Given the description of an element on the screen output the (x, y) to click on. 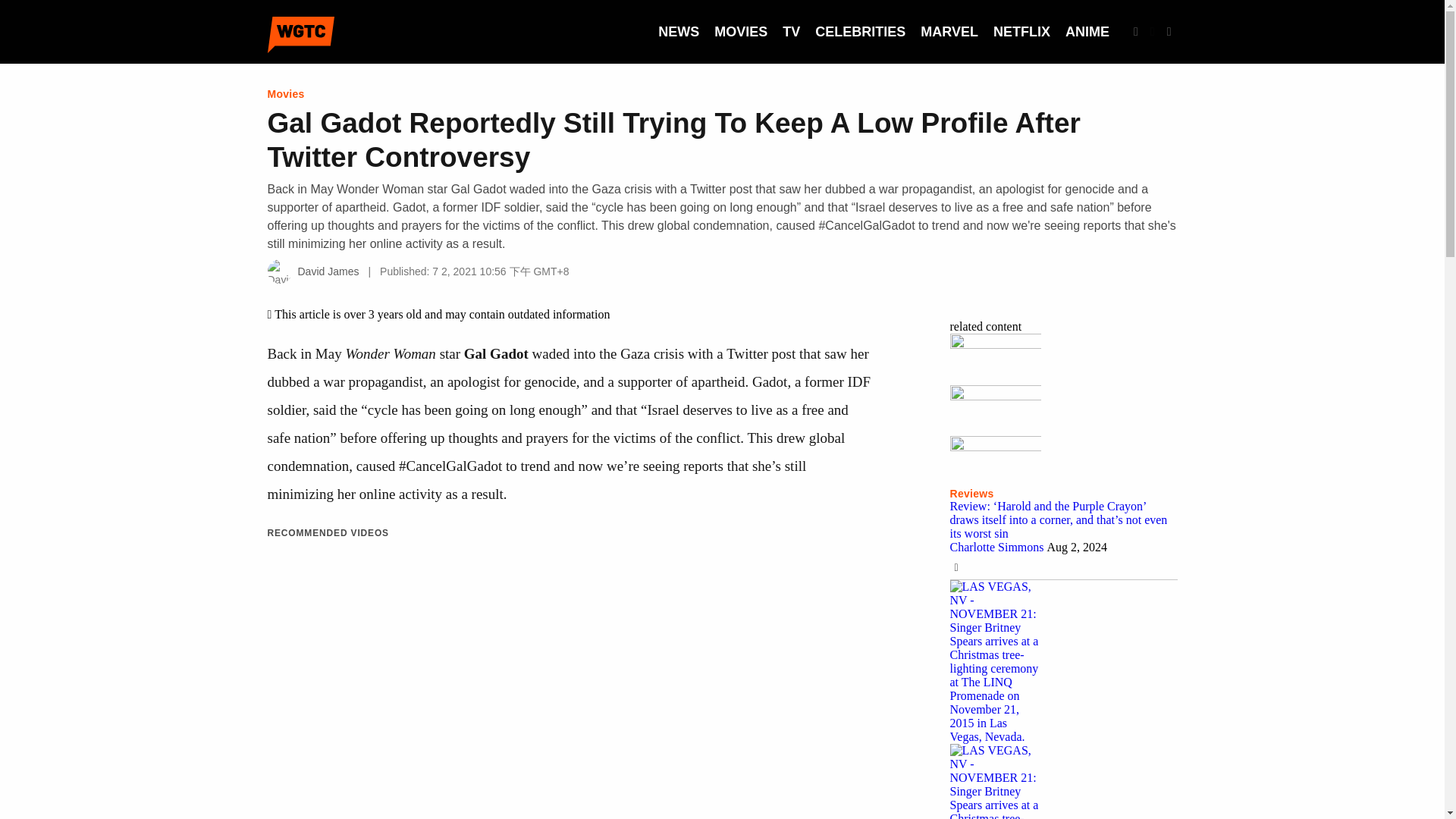
Search (1135, 31)
MOVIES (740, 31)
ANIME (1087, 31)
Expand Menu (1168, 31)
CELEBRITIES (860, 31)
NETFLIX (1020, 31)
NEWS (678, 31)
Dark Mode (1152, 31)
MARVEL (949, 31)
TV (791, 31)
